Given the description of an element on the screen output the (x, y) to click on. 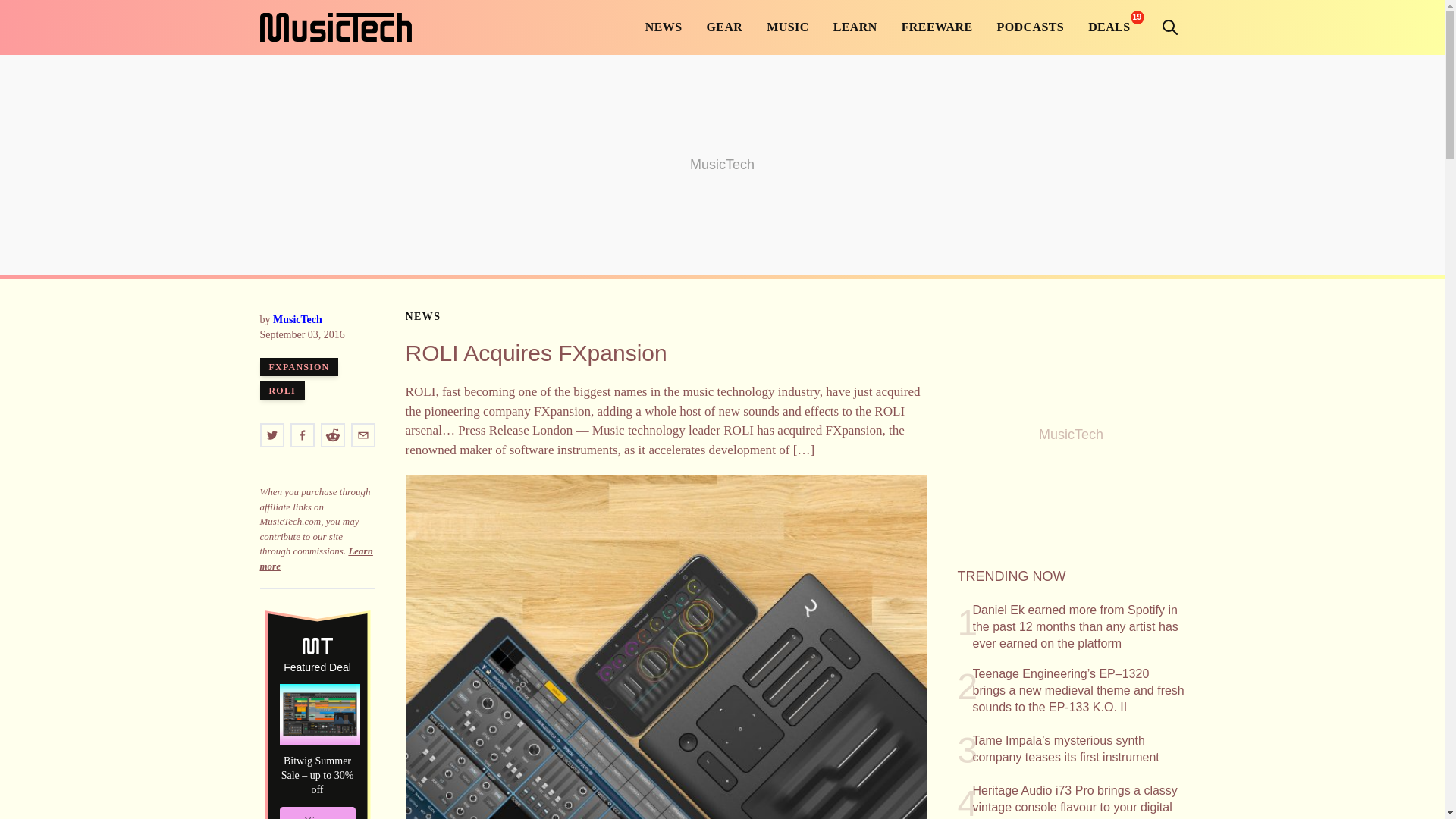
ROLI (281, 390)
MusicTech (334, 27)
FREEWARE (936, 27)
News (422, 316)
FXpansion (298, 366)
FXPANSION (298, 366)
Learn more (315, 558)
MUSIC (786, 27)
NEWS (422, 316)
